Given the description of an element on the screen output the (x, y) to click on. 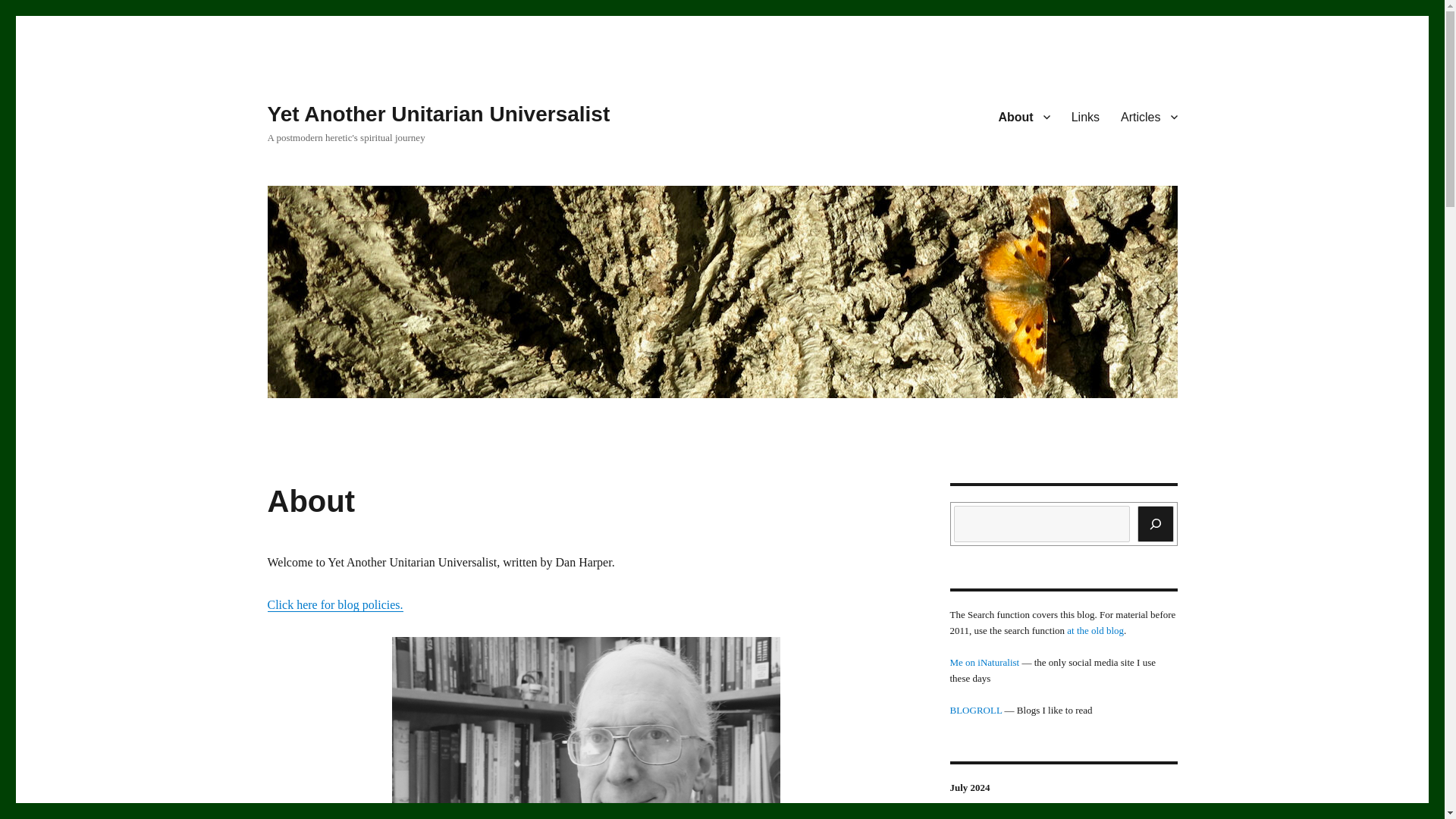
Sunday (967, 816)
Me on iNaturalist (984, 662)
BLOGROLL (975, 709)
Monday (998, 816)
Saturday (1160, 816)
Tuesday (1031, 816)
About (1023, 116)
Friday (1128, 816)
Click here for blog policies. (334, 604)
Wednesday (1064, 816)
at the old blog (1095, 630)
Articles (1148, 116)
Thursday (1096, 816)
Yet Another Unitarian Universalist (438, 114)
Links (1085, 116)
